Given the description of an element on the screen output the (x, y) to click on. 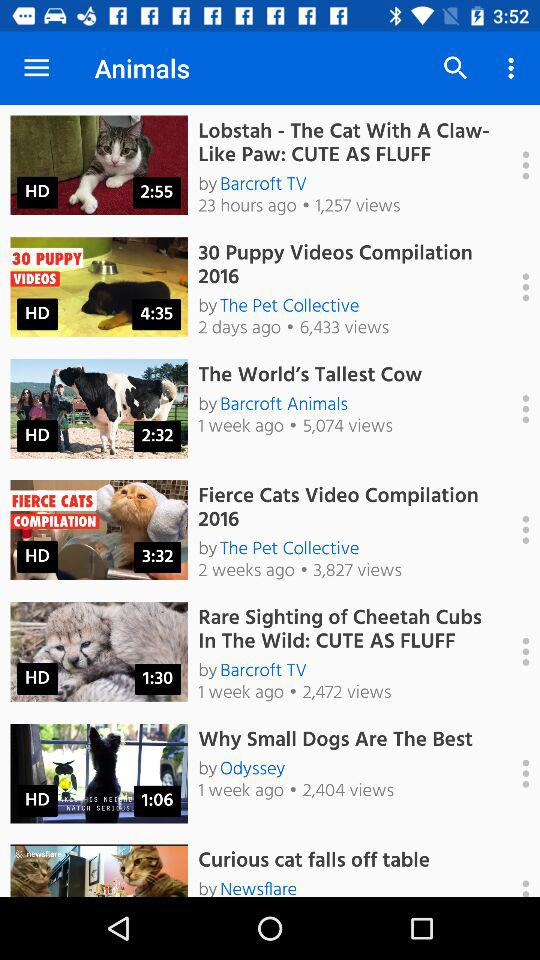
more options for video (515, 287)
